Given the description of an element on the screen output the (x, y) to click on. 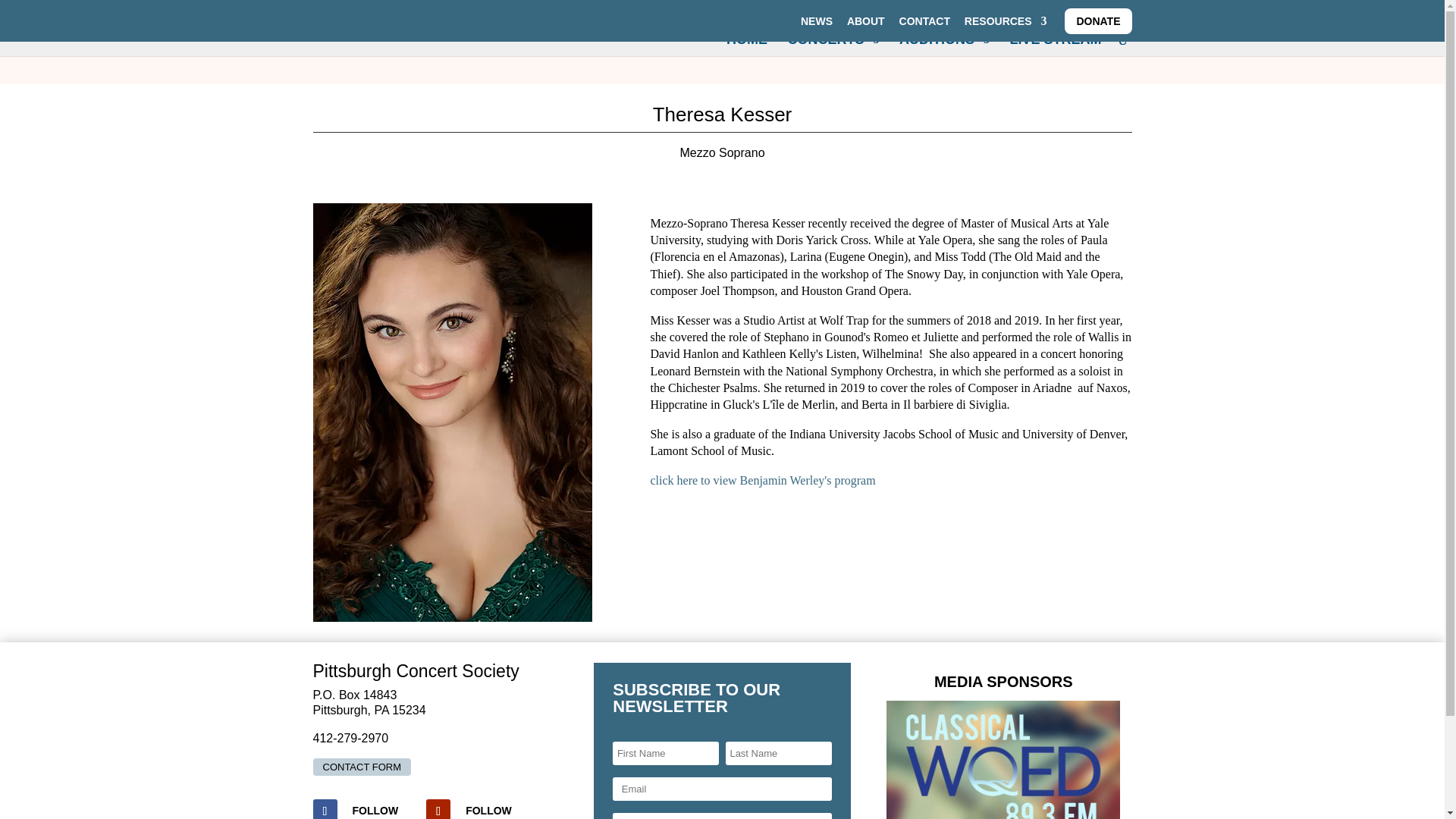
Follow on Facebook (324, 809)
FOLLOW (374, 810)
WQED-89.3-FM (1002, 760)
Facebook (374, 810)
AUDITIONS (944, 45)
CONCERTS (833, 45)
DONATE (1097, 24)
click here to view Benjamin Werley's program (762, 480)
LIVE STREAM (1054, 45)
Follow on Youtube (437, 809)
FOLLOW (489, 810)
Youtube (489, 810)
RESOURCES (1004, 24)
ABOUT (866, 24)
CONTACT FORM (361, 766)
